Given the description of an element on the screen output the (x, y) to click on. 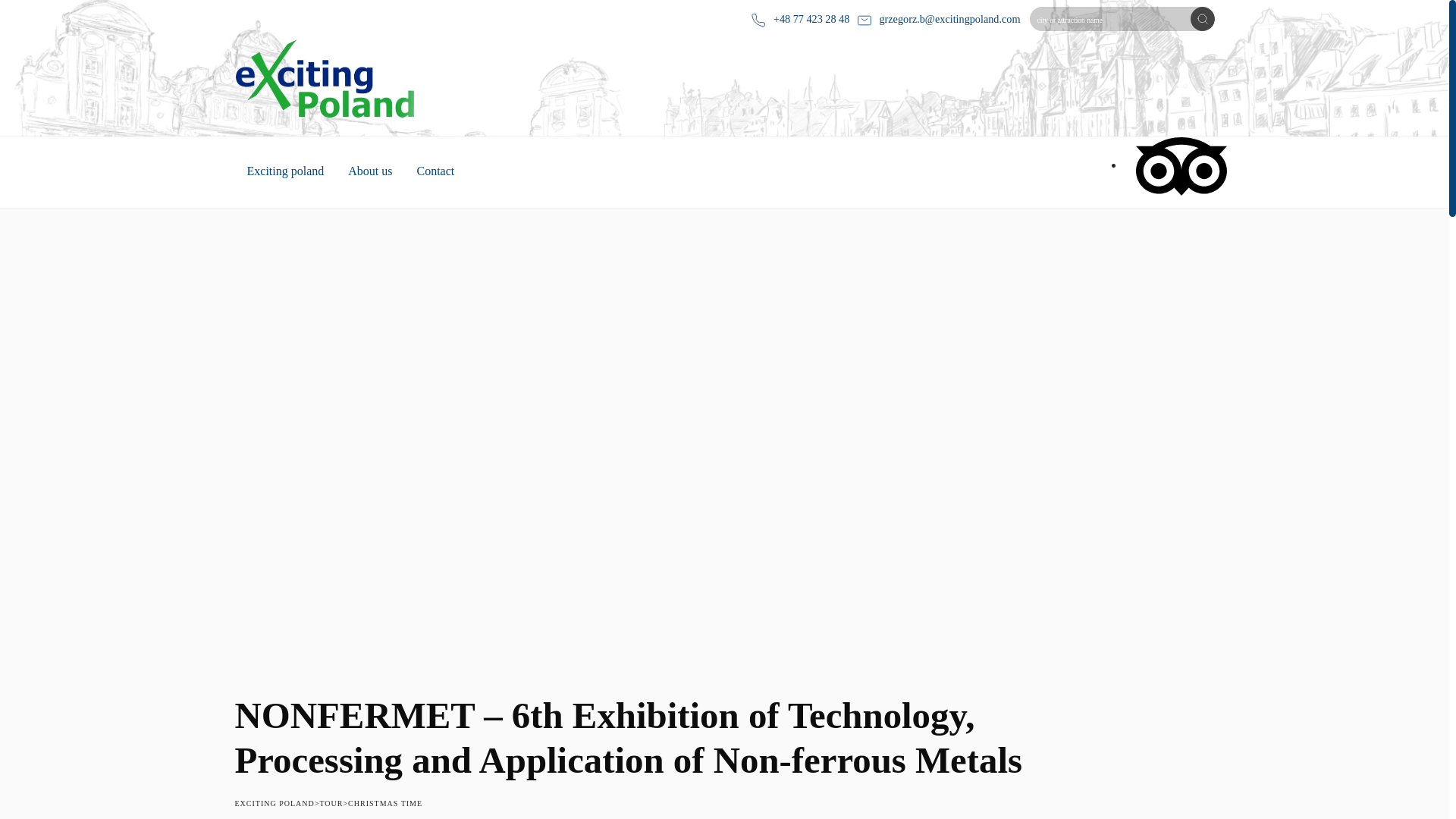
CHRISTMAS TIME (384, 803)
Search (1202, 18)
Contact (435, 172)
Exciting poland (285, 172)
About us (370, 172)
Search (1202, 18)
TOUR (330, 803)
Go to exciting poland. (274, 803)
Search (1202, 18)
EXCITING POLAND (274, 803)
